Given the description of an element on the screen output the (x, y) to click on. 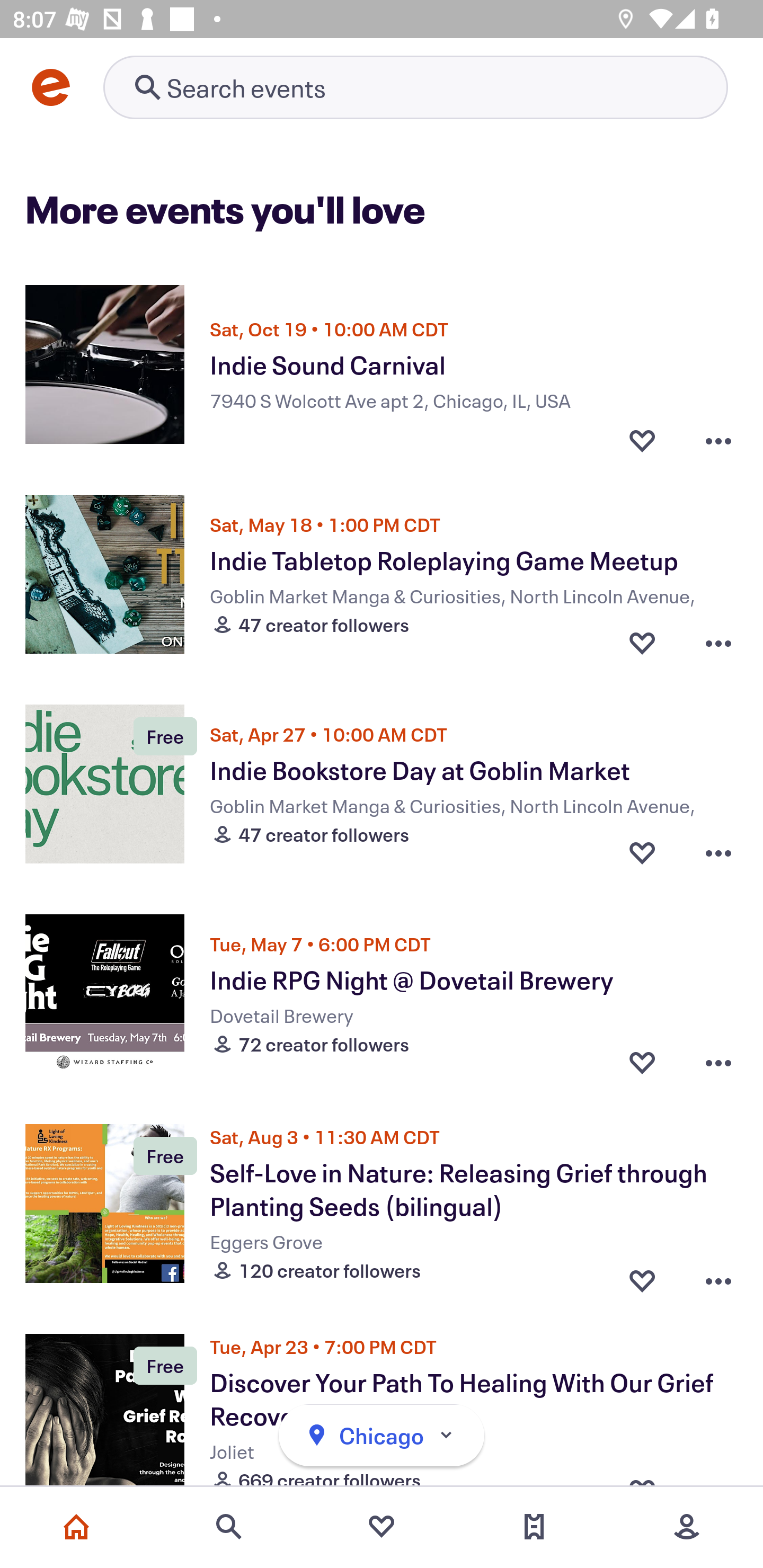
Retry's image Search events (415, 86)
Favorite button (642, 435)
Overflow menu button (718, 435)
Favorite button (642, 641)
Overflow menu button (718, 641)
Favorite button (642, 852)
Overflow menu button (718, 852)
Favorite button (642, 1062)
Overflow menu button (718, 1062)
Favorite button (642, 1275)
Overflow menu button (718, 1275)
Chicago (381, 1435)
Home (76, 1526)
Search events (228, 1526)
Favorites (381, 1526)
Tickets (533, 1526)
More (686, 1526)
